Given the description of an element on the screen output the (x, y) to click on. 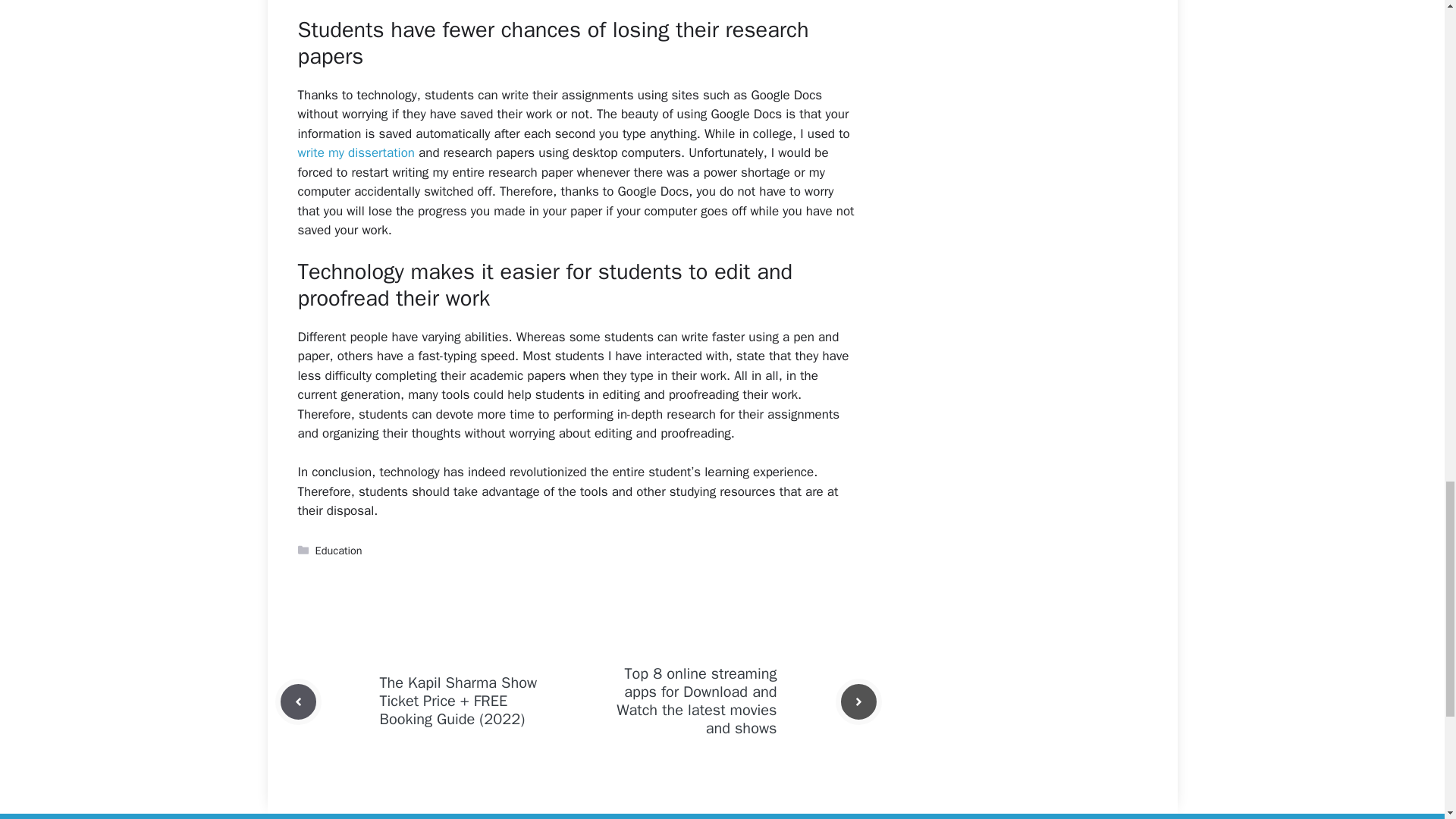
write my dissertation (355, 152)
Education (338, 550)
